Given the description of an element on the screen output the (x, y) to click on. 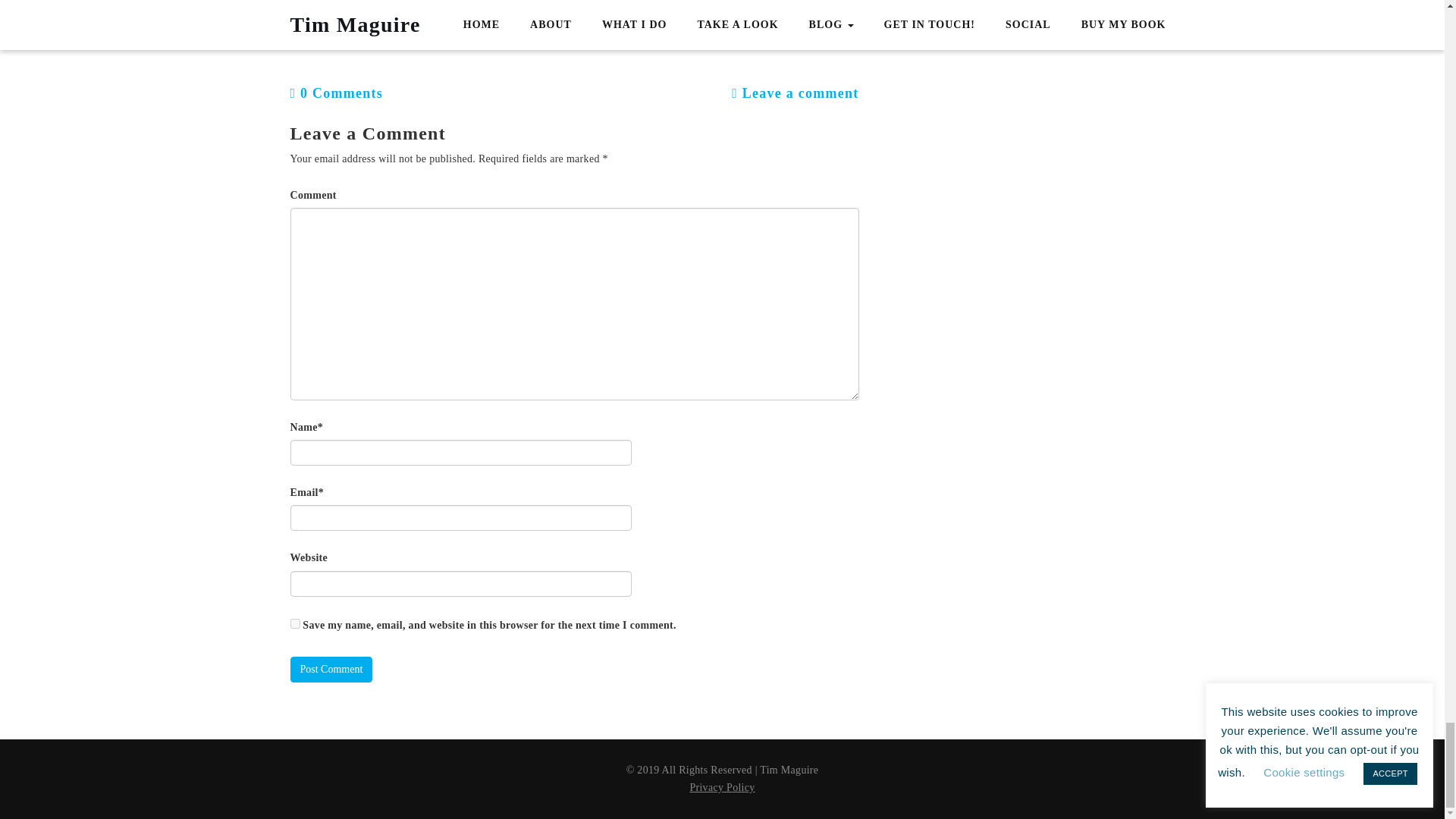
Post Comment (330, 669)
Post Comment (330, 669)
yes (294, 623)
0 Comments (335, 92)
